Given the description of an element on the screen output the (x, y) to click on. 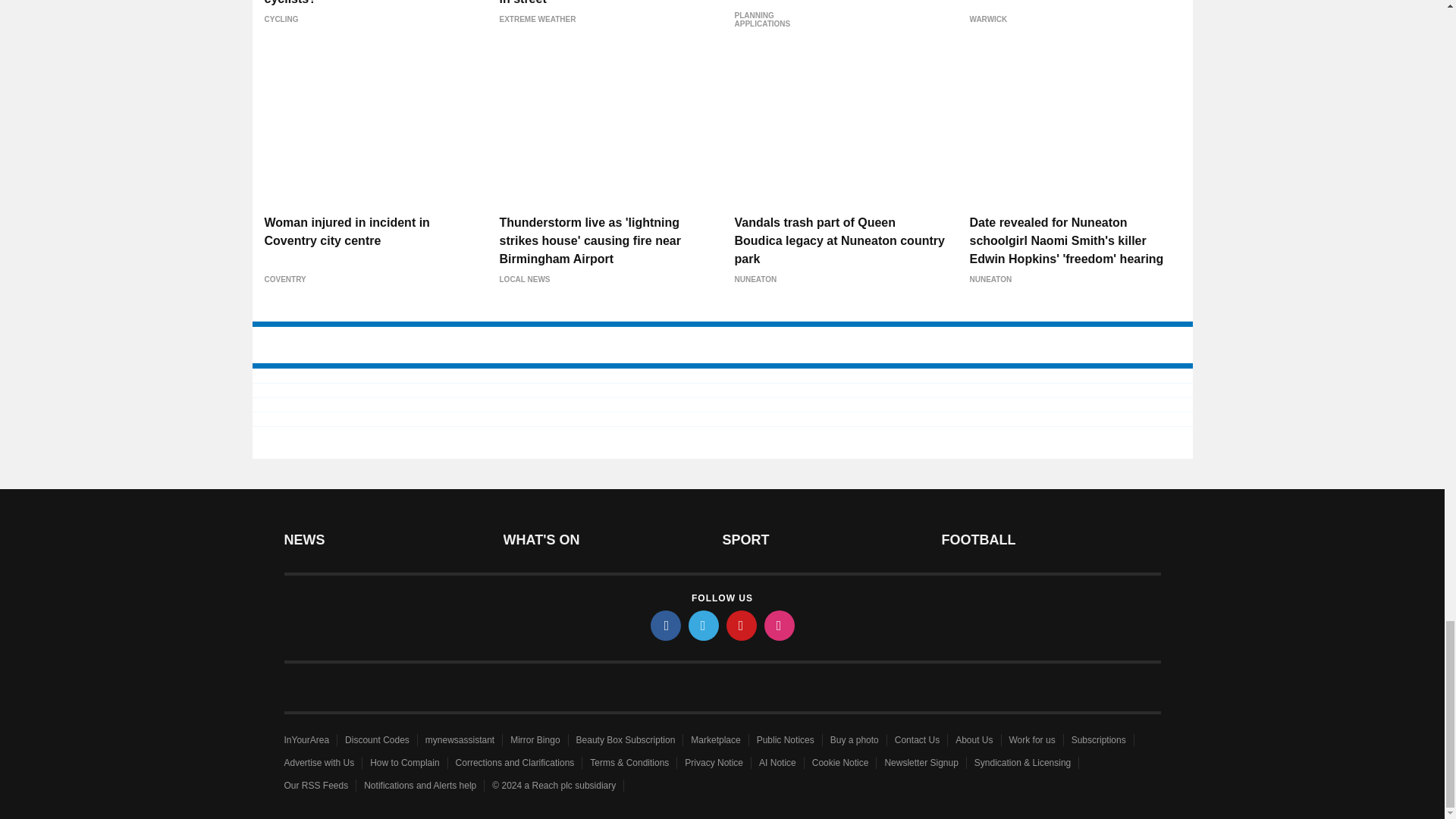
facebook (665, 625)
pinterest (741, 625)
instagram (779, 625)
twitter (703, 625)
